Given the description of an element on the screen output the (x, y) to click on. 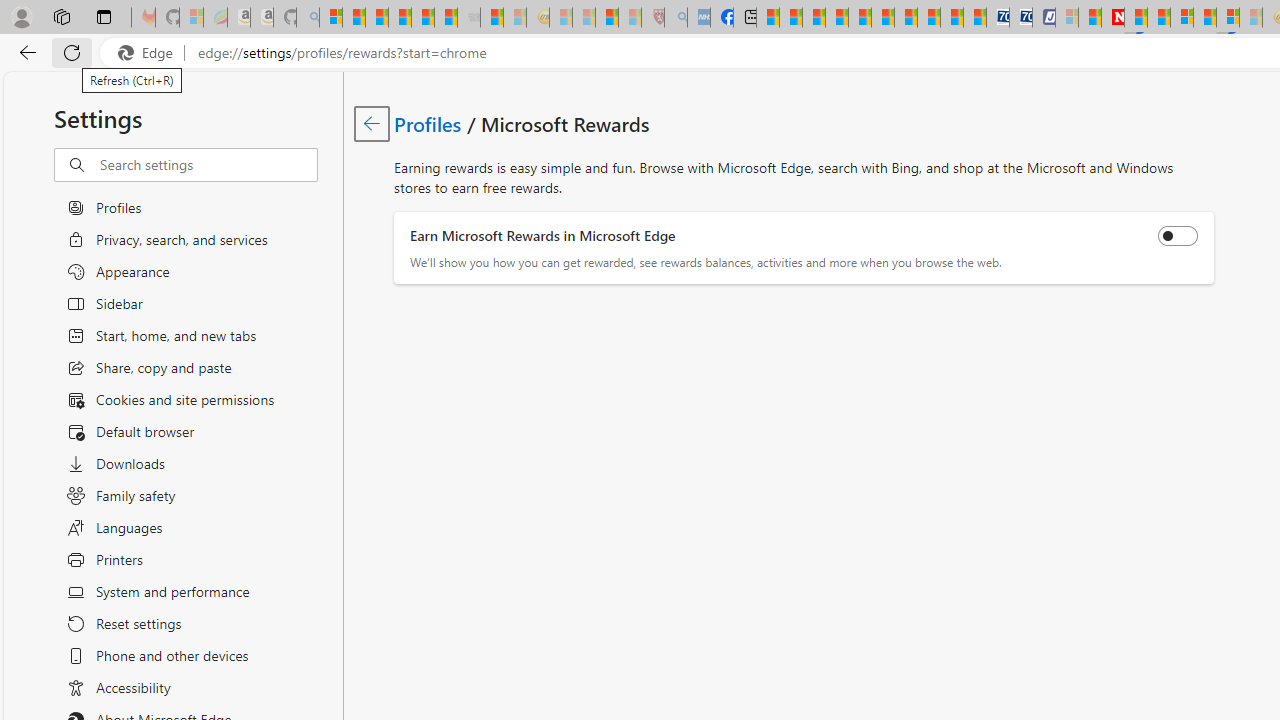
Latest Politics News & Archive | Newsweek.com (1112, 17)
The Weather Channel - MSN (376, 17)
Combat Siege - Sleeping (468, 17)
Earn Microsoft Rewards in Microsoft Edge (1178, 236)
Go back to Profiles page. (372, 123)
